Given the description of an element on the screen output the (x, y) to click on. 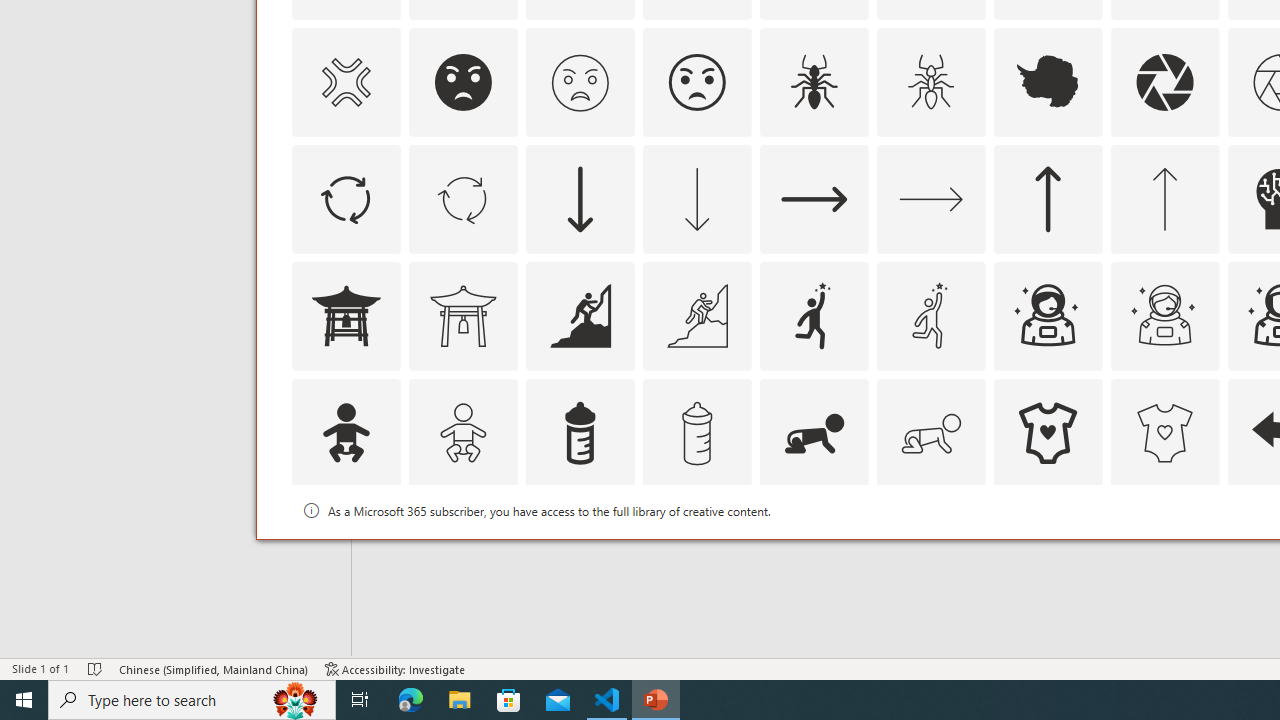
AutomationID: Icons_Aspiration (579, 316)
AutomationID: Icons_Aspiration_M (696, 316)
AutomationID: Icons_Badge10_M (345, 550)
AutomationID: Icons_Aspiration1_M (930, 316)
AutomationID: Icons_Baby_M (463, 432)
AutomationID: Icons_BabyBottle (579, 432)
